Given the description of an element on the screen output the (x, y) to click on. 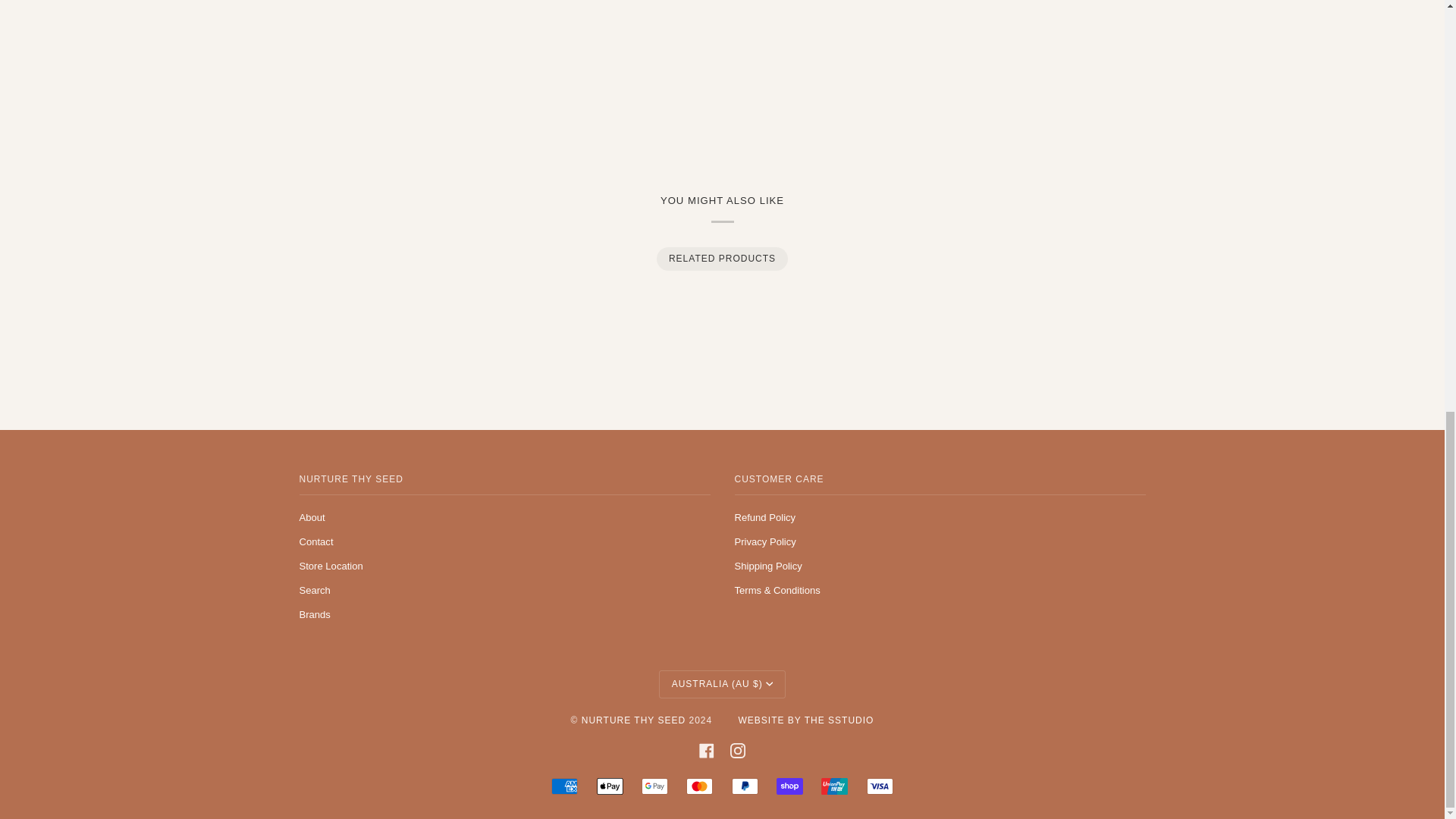
PAYPAL (745, 786)
APPLE PAY (609, 786)
MASTERCARD (699, 786)
VISA (879, 786)
SHOP PAY (789, 786)
Instagram (737, 750)
RELATED PRODUCTS (721, 259)
Facebook (706, 750)
GOOGLE PAY (655, 786)
AMERICAN EXPRESS (564, 786)
UNION PAY (834, 786)
